Given the description of an element on the screen output the (x, y) to click on. 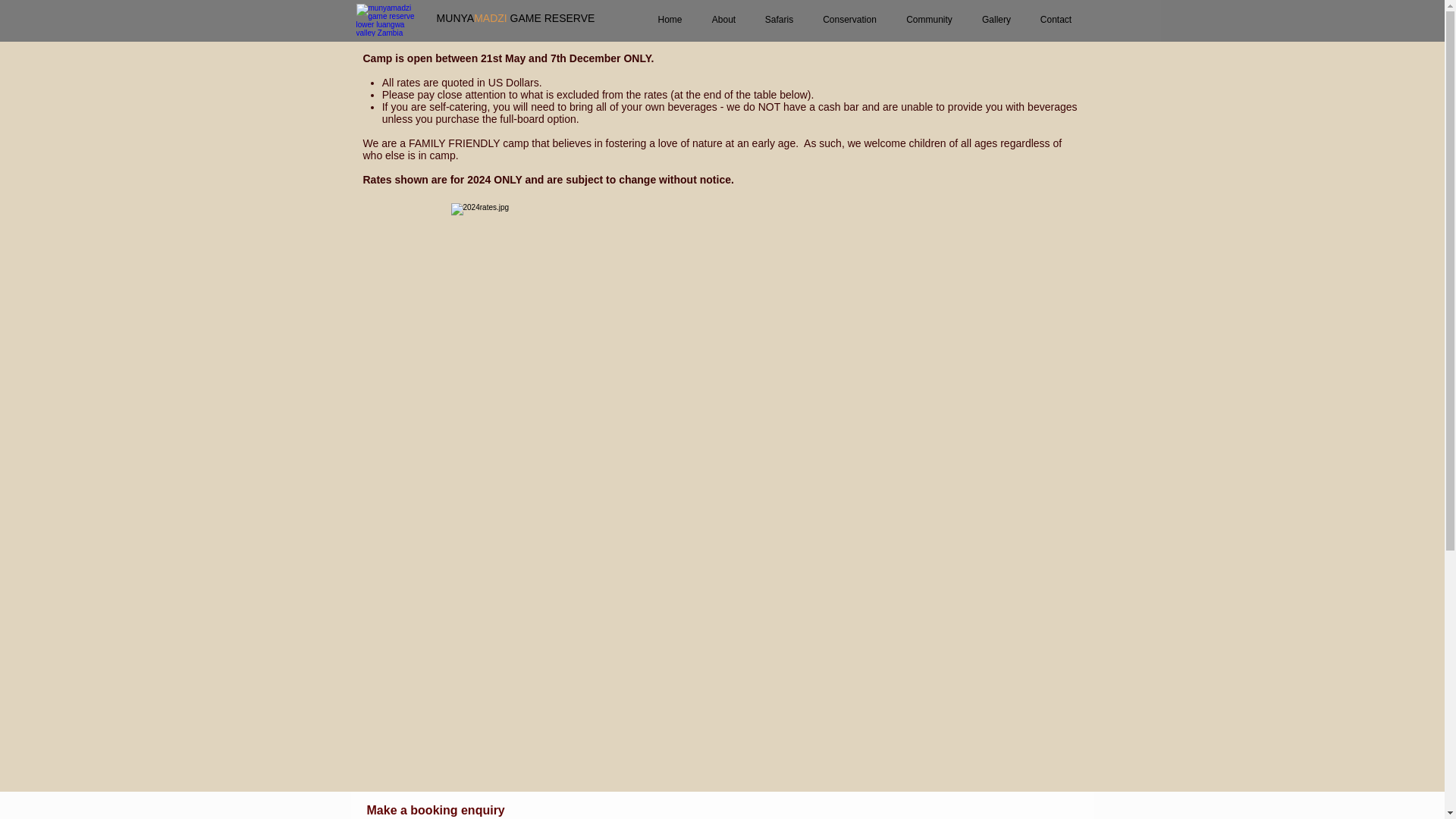
MADZI (490, 18)
Contact (1055, 19)
MUNYA (455, 18)
Community (929, 19)
GAME RESERVE (553, 18)
Home (670, 19)
Gallery (997, 19)
Home page (388, 19)
